Given the description of an element on the screen output the (x, y) to click on. 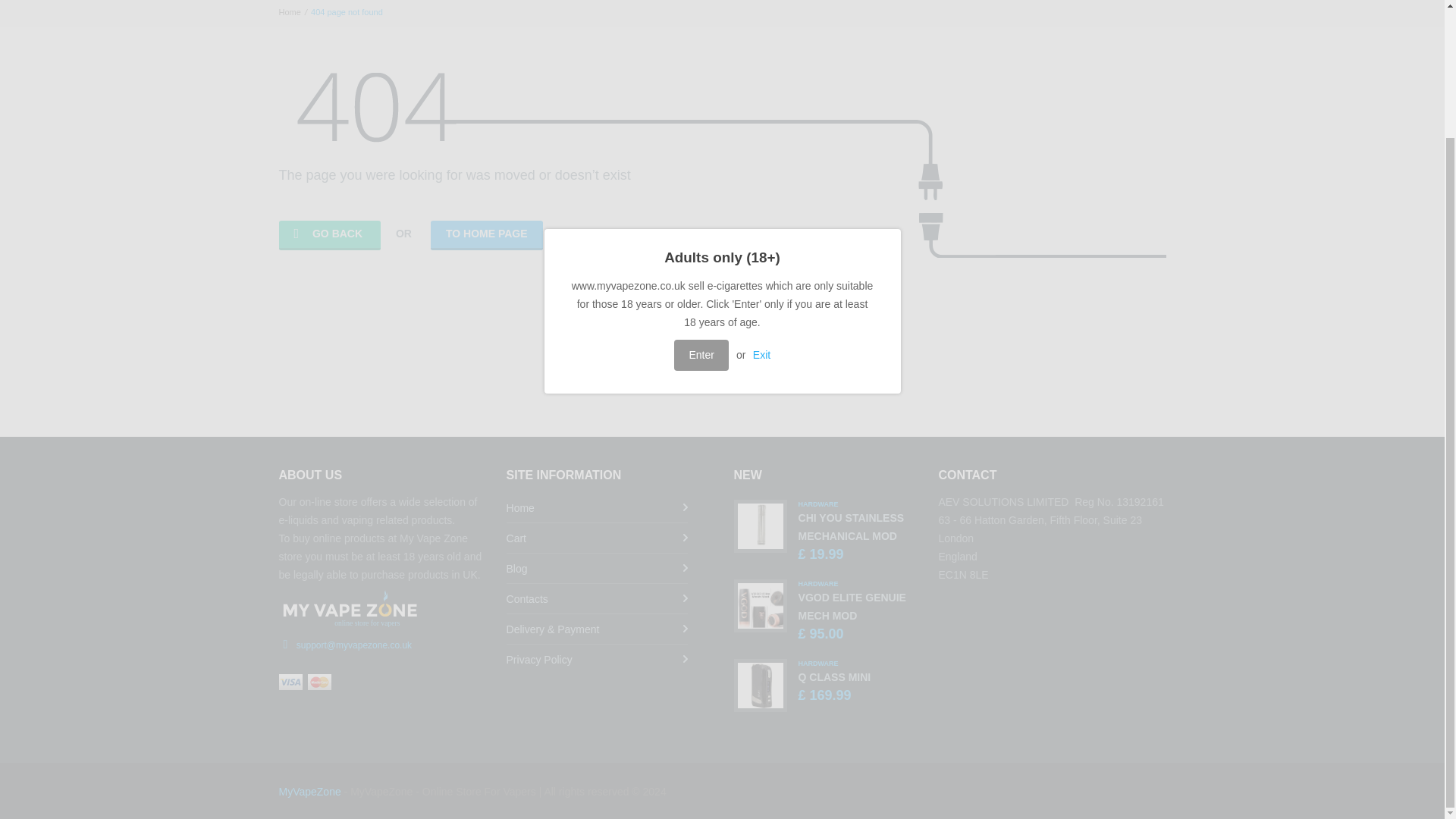
Blog (597, 568)
Contacts (597, 598)
TO HOME PAGE (851, 606)
Home (486, 235)
GO BACK (290, 11)
Privacy Policy (329, 235)
Q CLASS MINI (597, 659)
Cart (833, 676)
CHI YOU STAINLESS MECHANICAL MOD (597, 537)
